Given the description of an element on the screen output the (x, y) to click on. 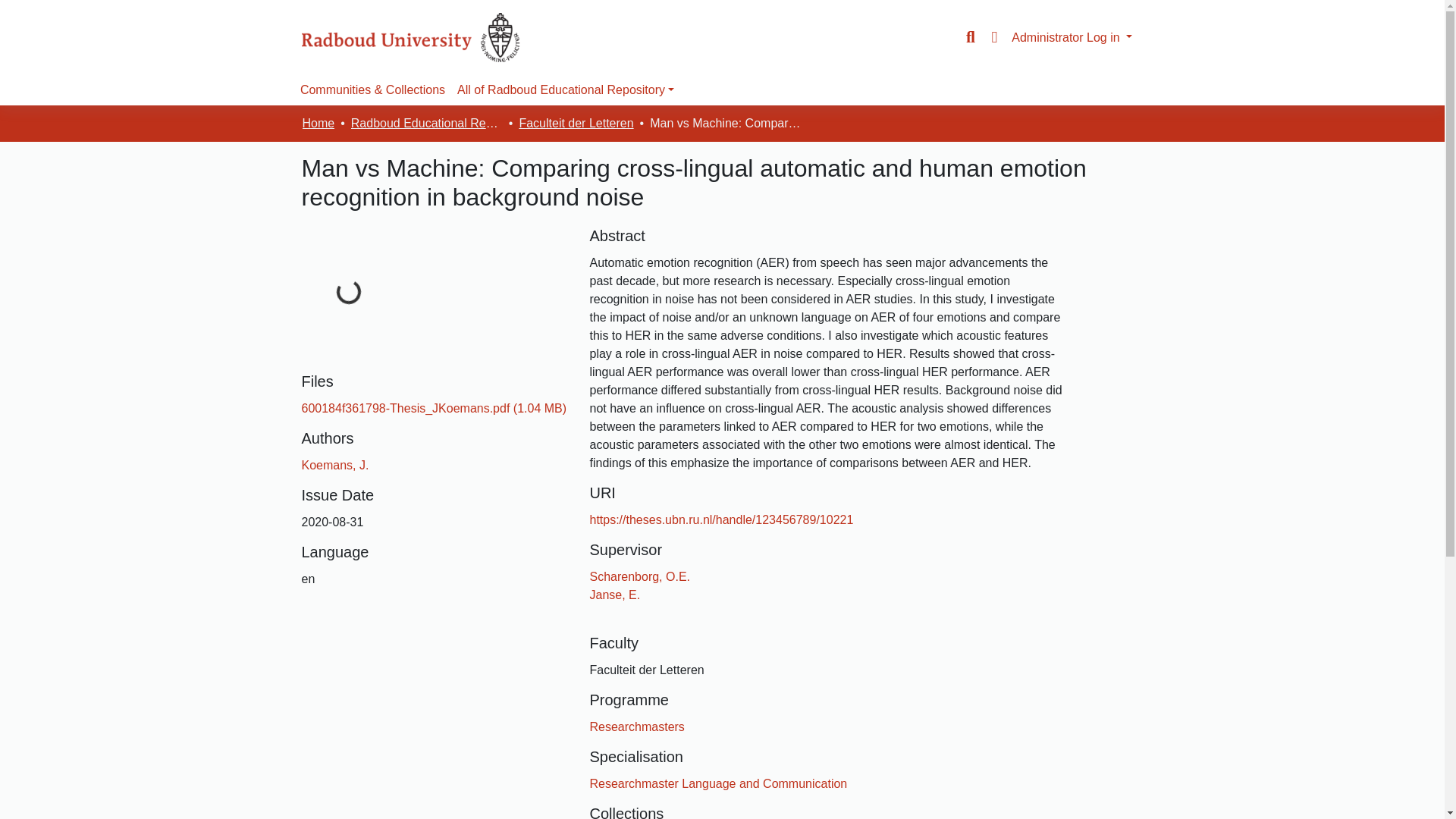
Language switch (993, 37)
Search (970, 37)
Scharenborg, O.E. (639, 576)
Koemans, J. (335, 464)
Faculteit der Letteren (575, 123)
Administrator Log in (1072, 36)
Radboud Educational Repository (426, 123)
Home (317, 123)
Janse, E. (614, 594)
All of Radboud Educational Repository (565, 90)
Researchmaster Language and Communication (718, 783)
Researchmasters (636, 726)
